Given the description of an element on the screen output the (x, y) to click on. 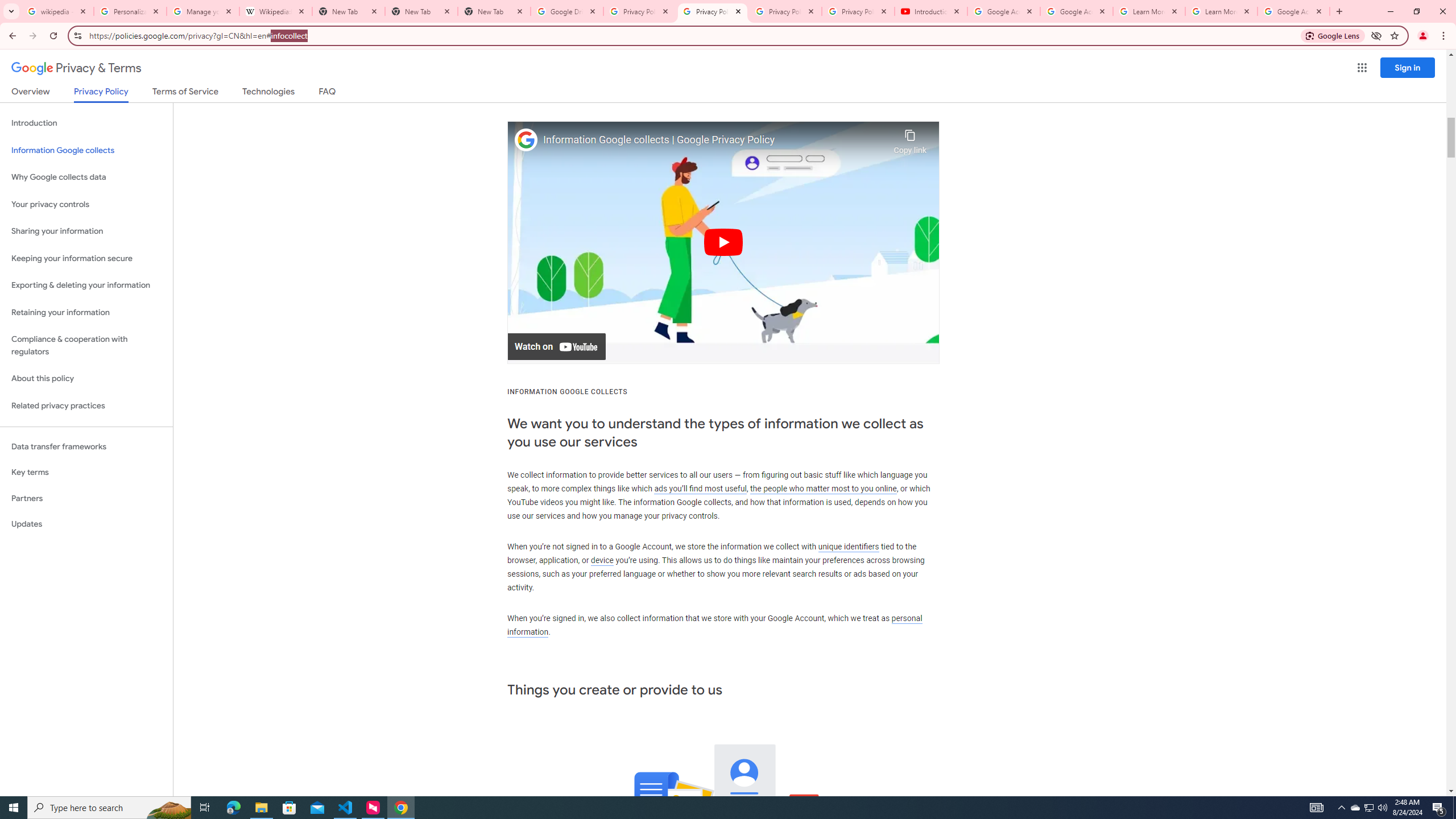
Data transfer frameworks (86, 446)
Watch on YouTube (556, 346)
Manage your Location History - Google Search Help (202, 11)
Information Google collects (86, 150)
Partners (86, 497)
